Given the description of an element on the screen output the (x, y) to click on. 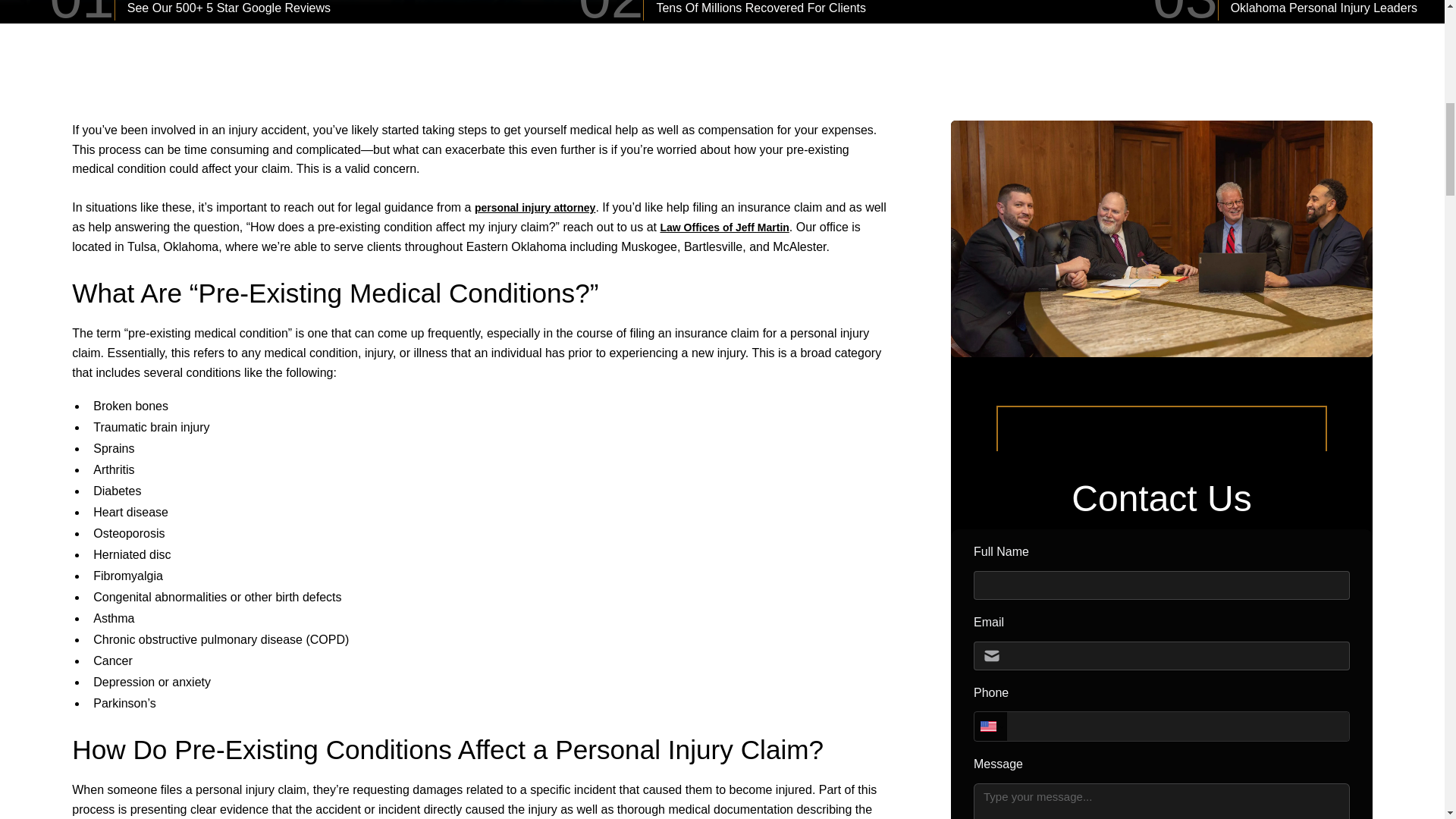
personal injury attorney (534, 207)
nkyHqmcTZWus (1161, 674)
Law Offices of Jeff Martin (724, 227)
